Given the description of an element on the screen output the (x, y) to click on. 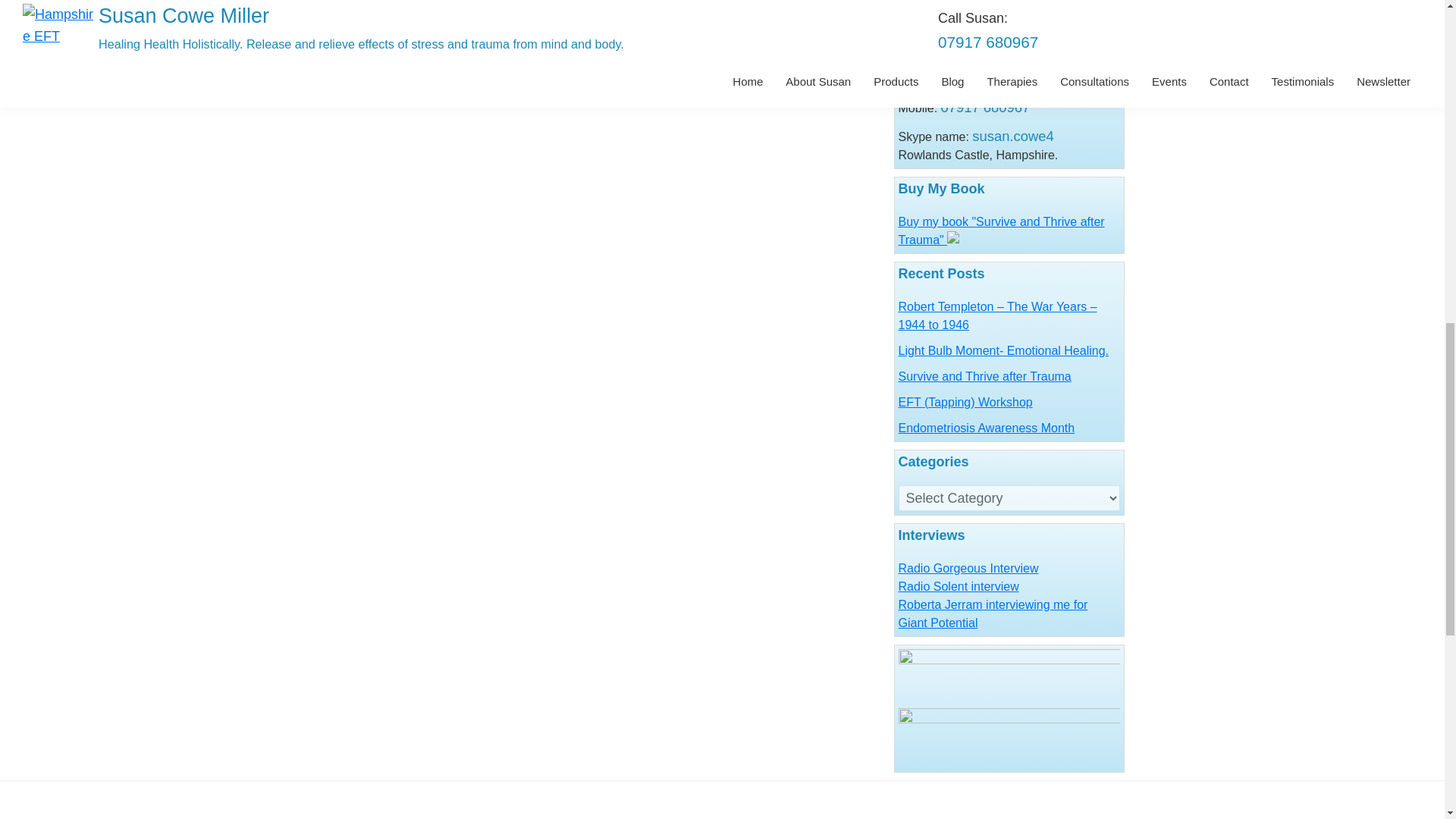
susancowereiki (1008, 716)
Follow Susan Cowe Miller on YouTube (1007, 5)
Buy Survive and Thrive after Trauma (1000, 230)
Follow Susan Cowe Miller on YouTube (1008, 4)
